Given the description of an element on the screen output the (x, y) to click on. 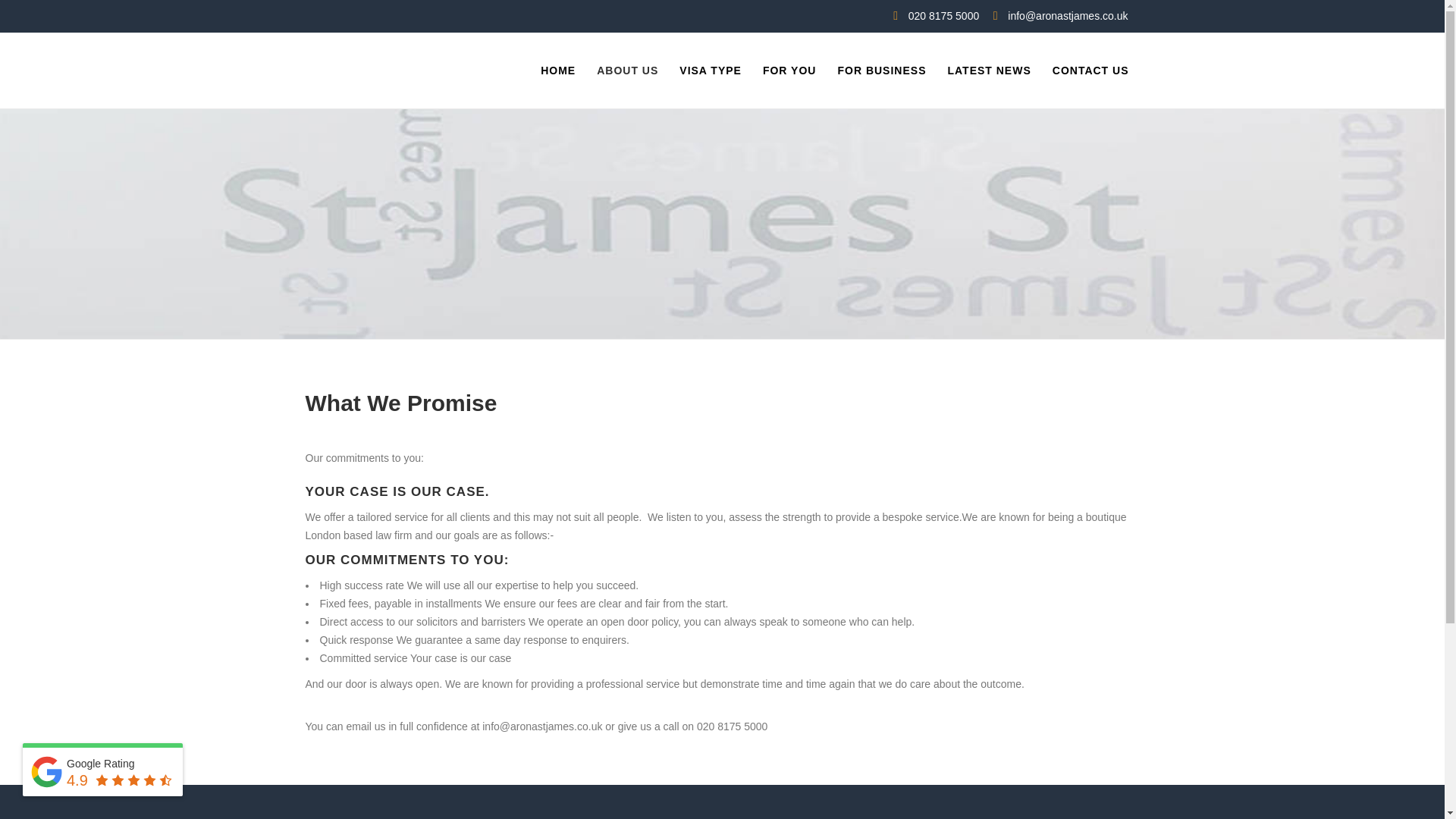
020 8175 5000 (943, 15)
ABOUT US (627, 70)
LATEST NEWS (988, 70)
CONTACT US (1091, 70)
FOR BUSINESS (881, 70)
FOR YOU (789, 70)
VISA TYPE (710, 70)
